Given the description of an element on the screen output the (x, y) to click on. 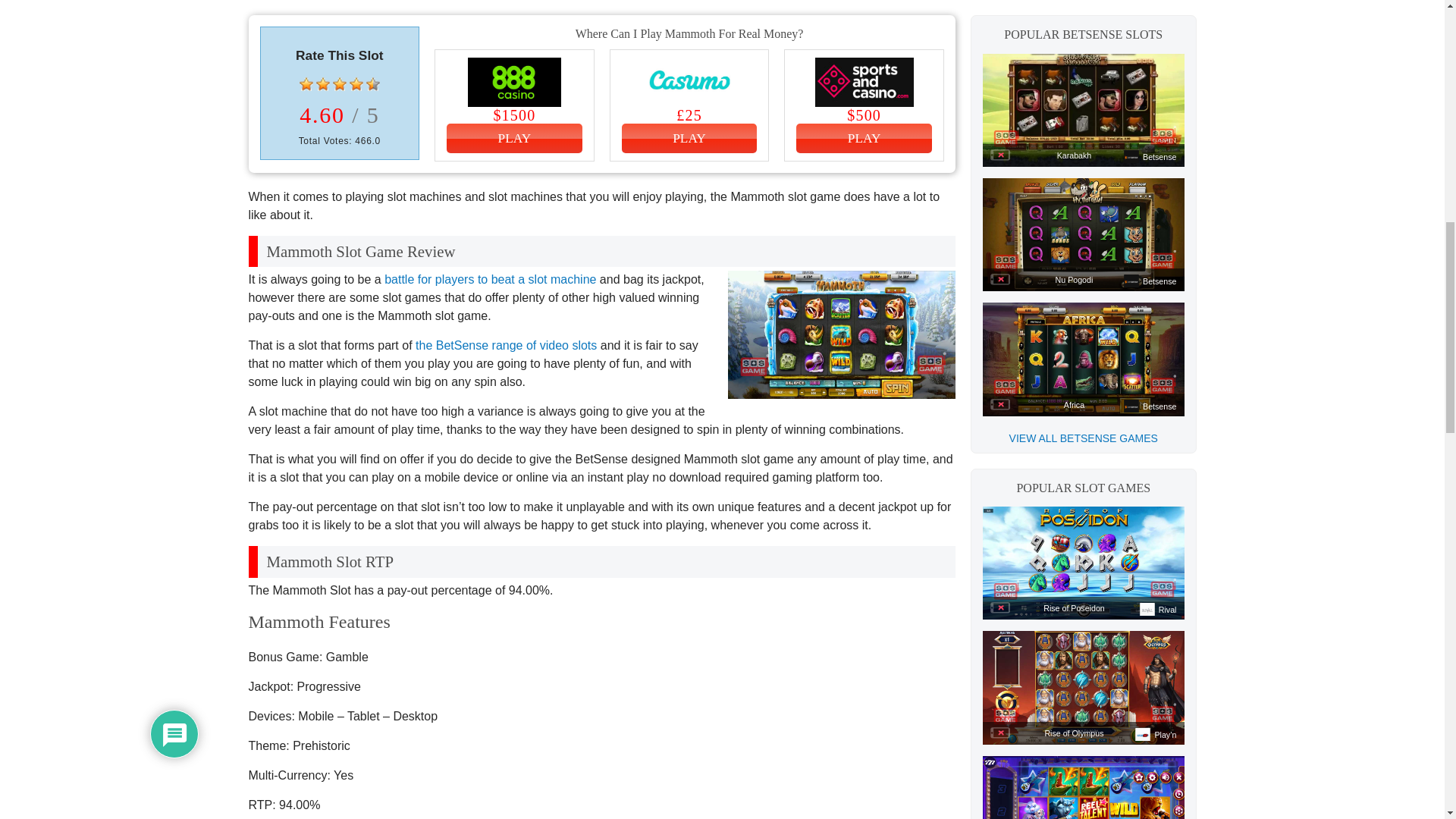
1 Star (306, 83)
PLAY (514, 138)
3 Stars (339, 83)
5 Stars (373, 83)
4 Stars (355, 83)
2 Stars (322, 83)
Screenshot of Mammoth slot from Betsense (841, 334)
PLAY (689, 138)
